Given the description of an element on the screen output the (x, y) to click on. 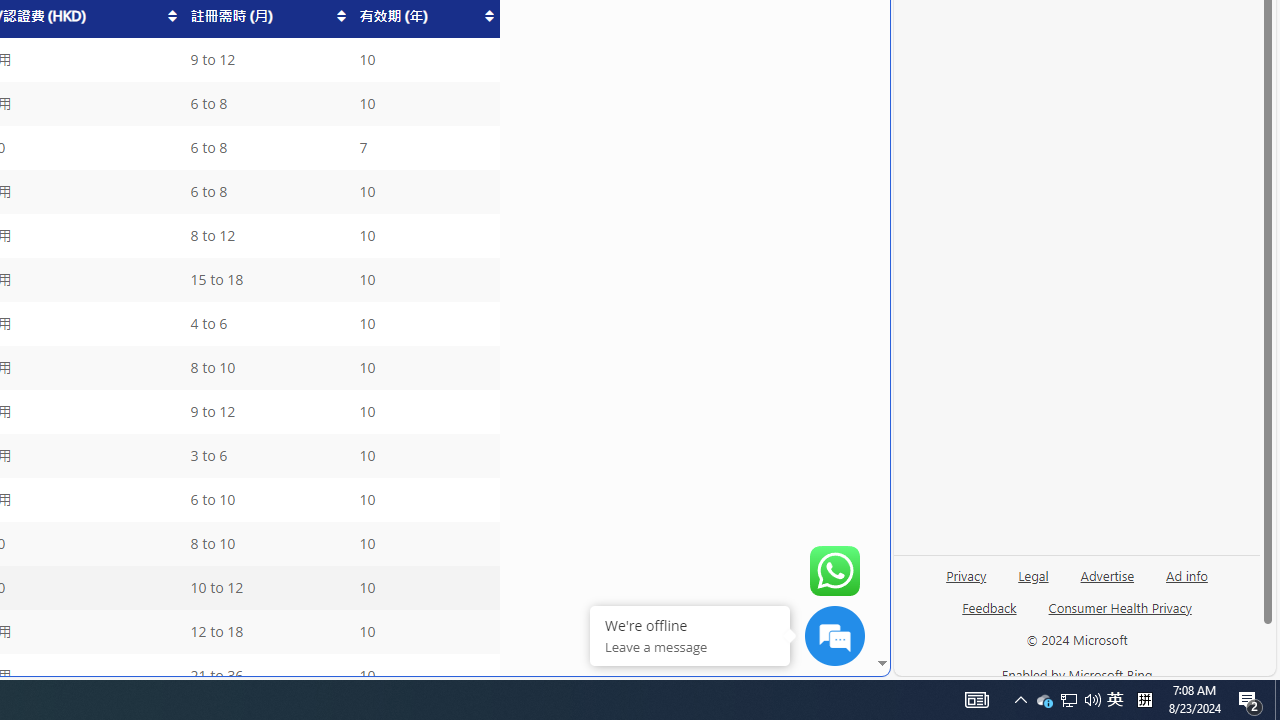
12 to 18 (266, 632)
10 (425, 676)
Consumer Health Privacy (1119, 607)
6 to 8 (266, 192)
4 to 6 (266, 324)
Privacy (965, 574)
3 to 6 (266, 456)
Ad info (1186, 583)
Ad info (1187, 574)
Consumer Health Privacy (1119, 615)
Feedback (989, 607)
Privacy (966, 583)
